Given the description of an element on the screen output the (x, y) to click on. 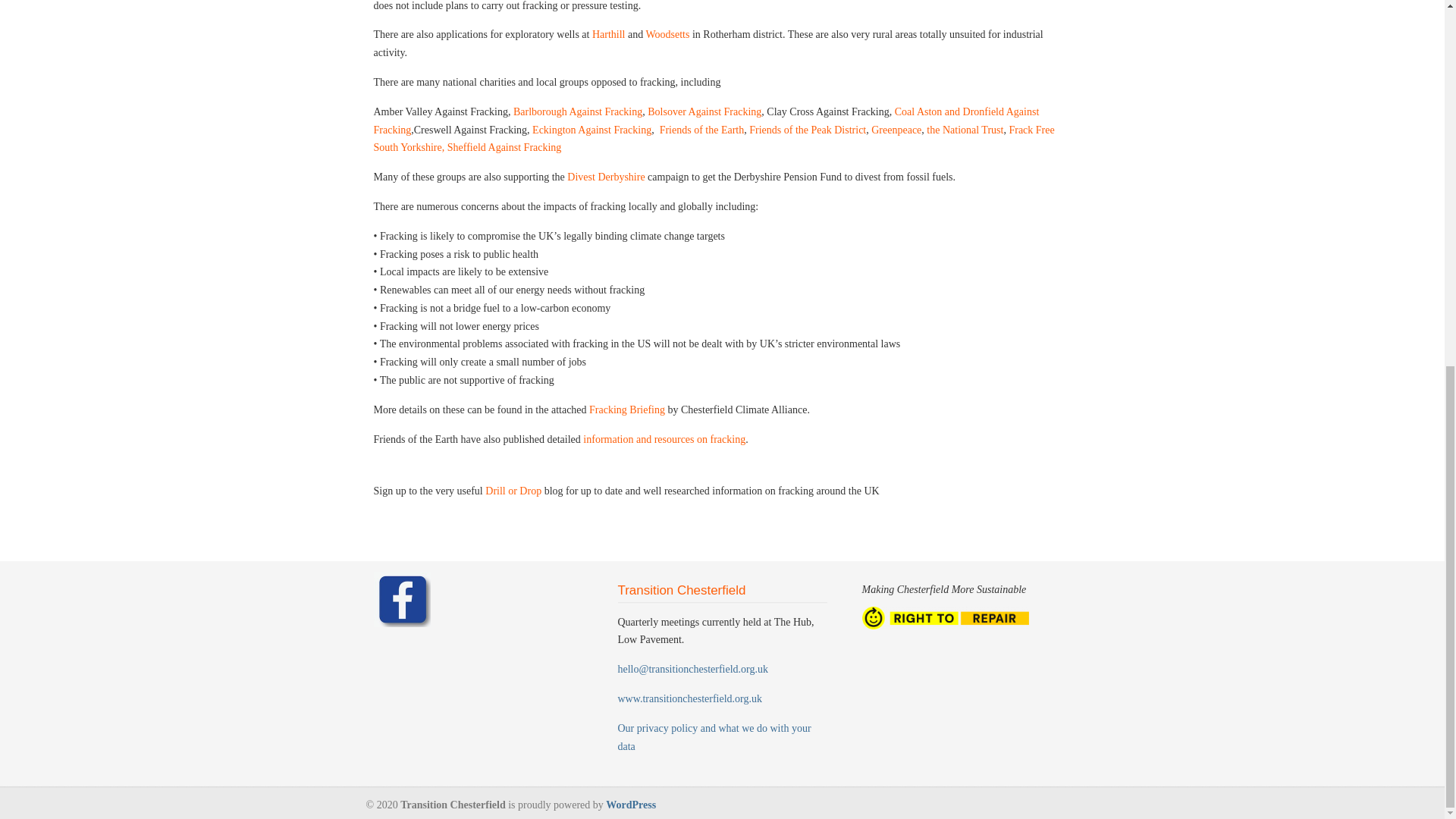
Harthill (609, 34)
